Given the description of an element on the screen output the (x, y) to click on. 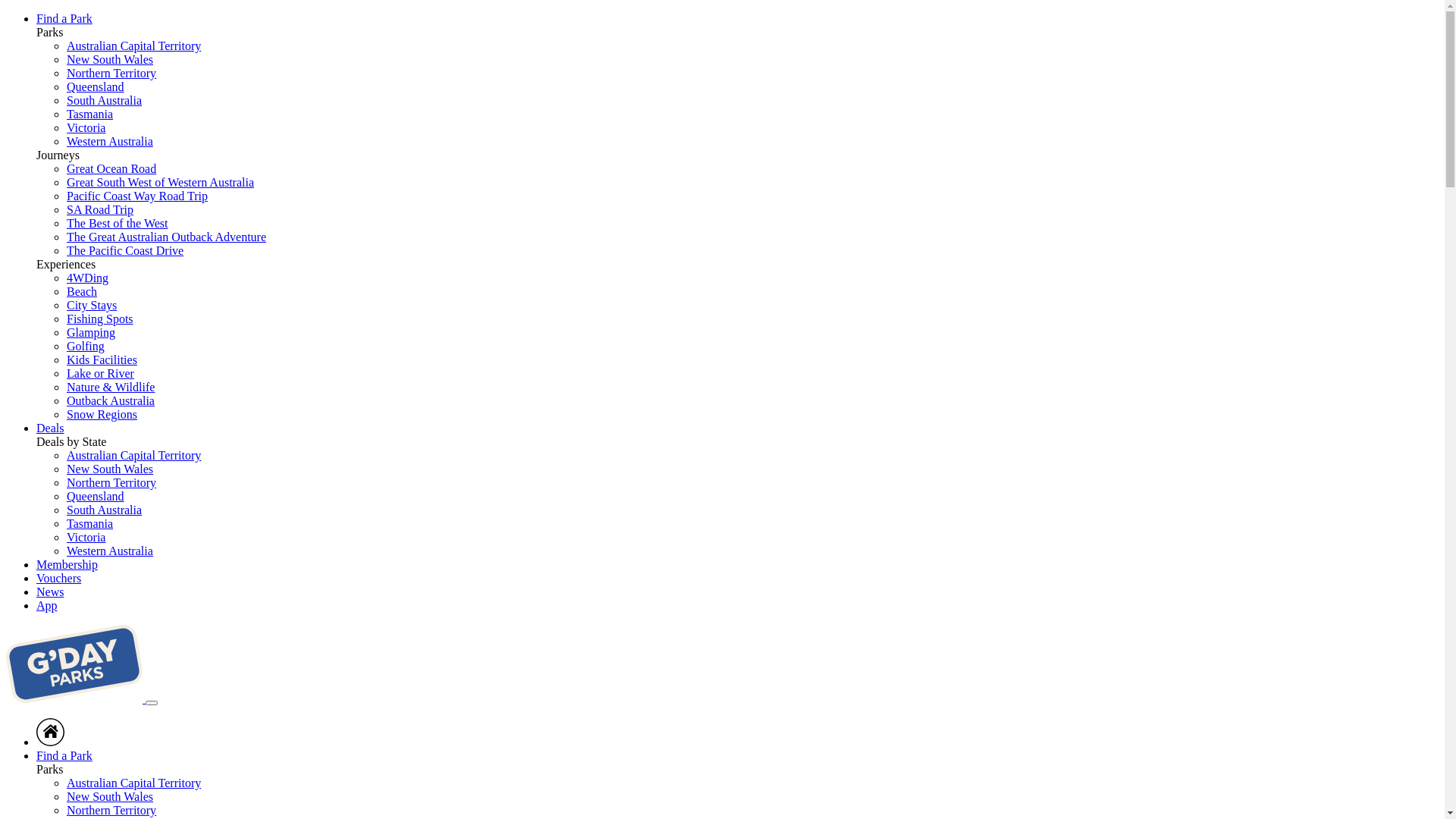
South Australia Element type: text (103, 509)
Nature & Wildlife Element type: text (110, 386)
Tasmania Element type: text (89, 113)
New South Wales Element type: text (109, 468)
Queensland Element type: text (95, 495)
Golfing Element type: text (85, 345)
Great Ocean Road Element type: text (111, 168)
The Best of the West Element type: text (117, 222)
Australian Capital Territory Element type: text (133, 782)
Great South West of Western Australia Element type: text (160, 181)
Kids Facilities Element type: text (101, 359)
Victoria Element type: text (85, 536)
New South Wales Element type: text (109, 59)
Western Australia Element type: text (109, 550)
Australian Capital Territory Element type: text (133, 45)
Lake or River Element type: text (100, 373)
South Australia Element type: text (103, 100)
Membership Element type: text (66, 564)
Northern Territory Element type: text (111, 482)
City Stays Element type: text (91, 304)
Queensland Element type: text (95, 86)
Pacific Coast Way Road Trip Element type: text (136, 195)
Outback Australia Element type: text (110, 400)
Deals Element type: text (49, 427)
Tasmania Element type: text (89, 523)
Victoria Element type: text (85, 127)
SA Road Trip Element type: text (99, 209)
The Pacific Coast Drive Element type: text (124, 250)
Fishing Spots Element type: text (99, 318)
Western Australia Element type: text (109, 140)
Northern Territory Element type: text (111, 72)
App Element type: text (46, 605)
Find a Park Element type: text (64, 755)
Beach Element type: text (81, 291)
The Great Australian Outback Adventure Element type: text (166, 236)
Find a Park Element type: text (64, 18)
Vouchers Element type: text (58, 577)
Glamping Element type: text (90, 332)
New South Wales Element type: text (109, 796)
Australian Capital Territory Element type: text (133, 454)
Snow Regions Element type: text (101, 413)
Northern Territory Element type: text (111, 809)
4WDing Element type: text (87, 277)
News Element type: text (49, 591)
